Given the description of an element on the screen output the (x, y) to click on. 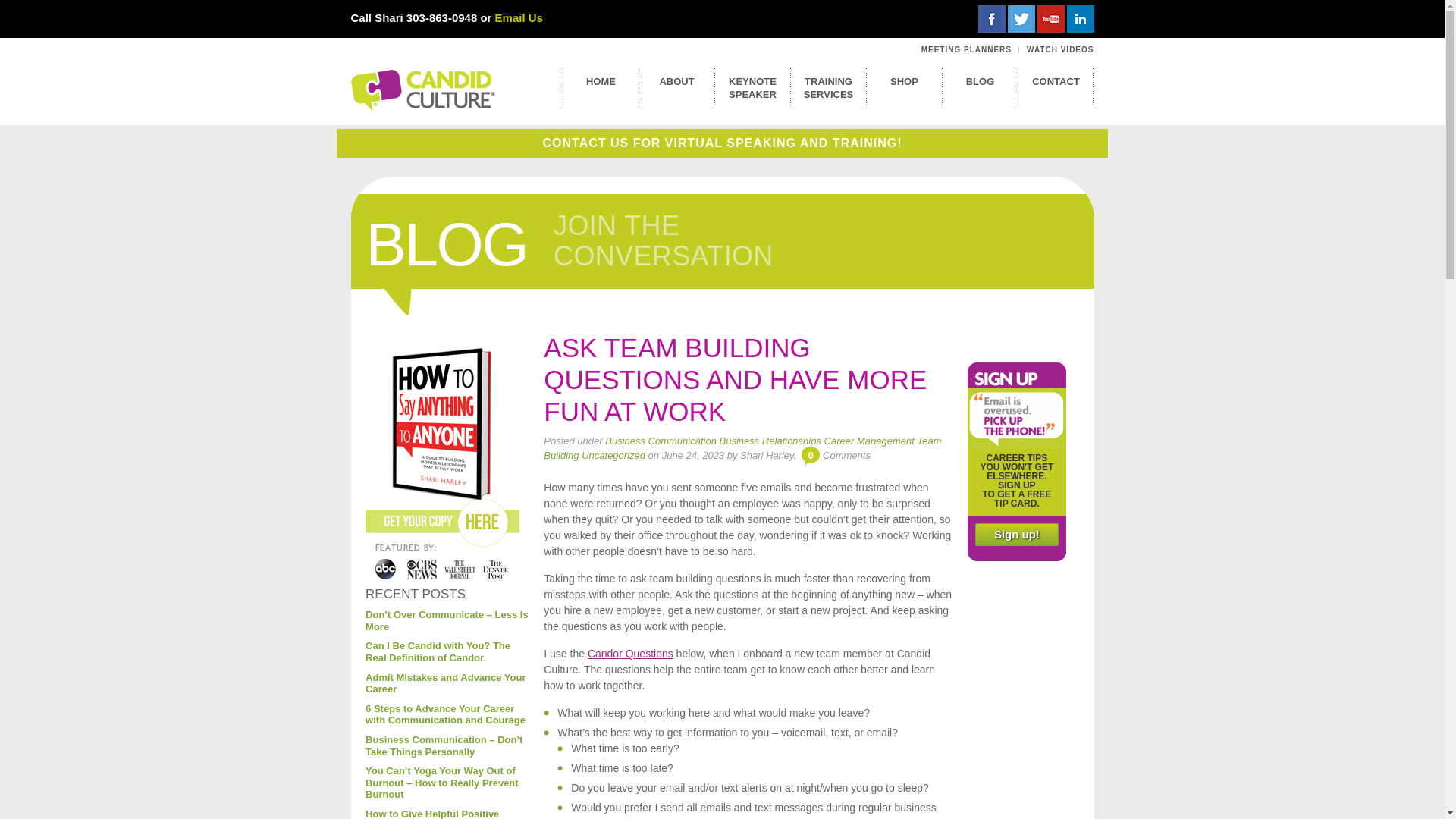
YouTube (1050, 18)
ABOUT (569, 244)
RECENT POSTS (676, 77)
SHOP (415, 594)
CONTACT (903, 77)
BLOG (1056, 77)
HOME (980, 77)
WATCH VIDEOS (600, 77)
Facebook (1059, 49)
Email Us (992, 18)
TRAINING SERVICES (519, 17)
MEETING PLANNERS (827, 84)
LinkedIn (966, 49)
